Given the description of an element on the screen output the (x, y) to click on. 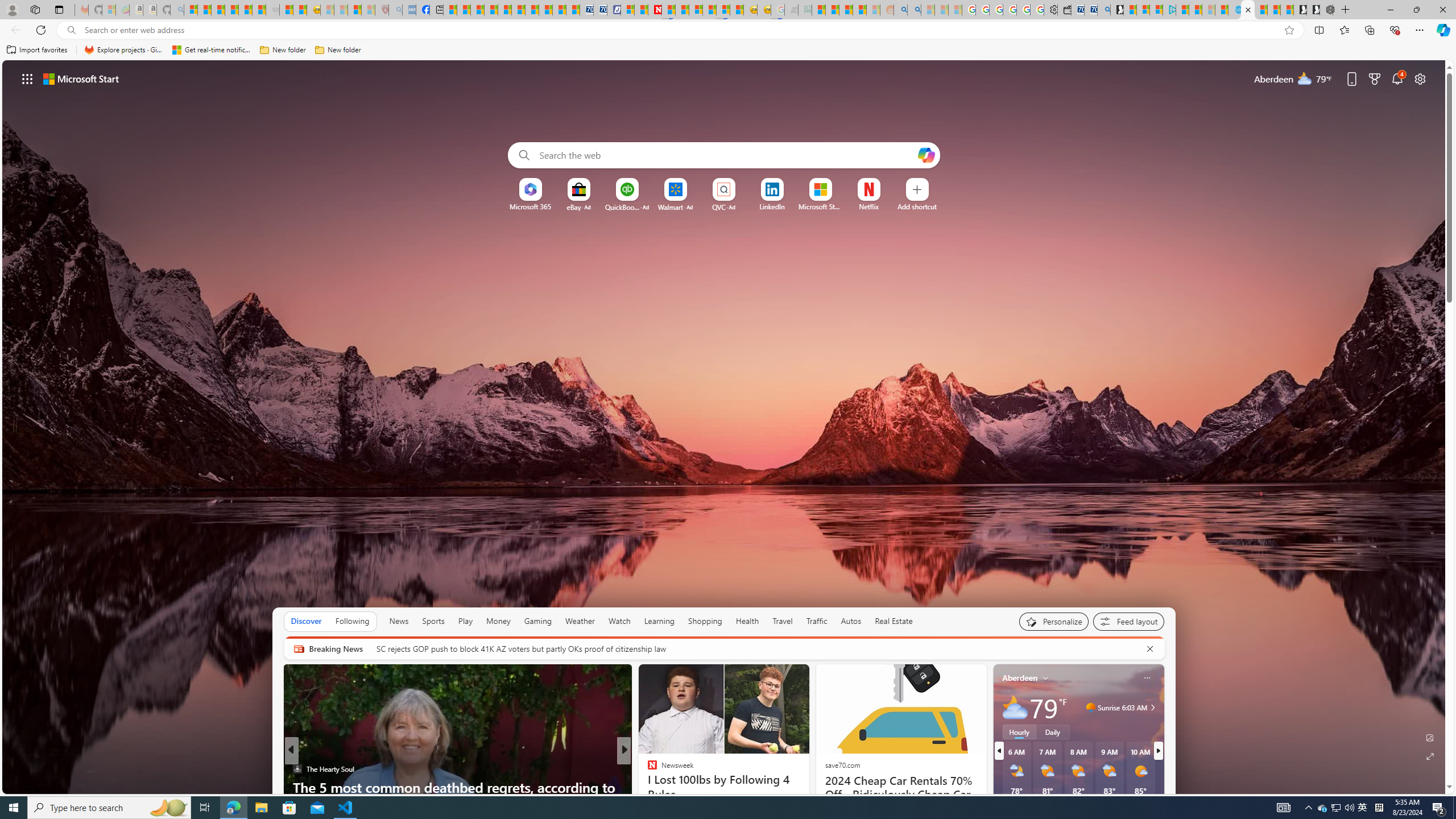
Newsweek (647, 768)
The Weather Channel - MSN (218, 9)
Wealth of Geeks (647, 768)
